Given the description of an element on the screen output the (x, y) to click on. 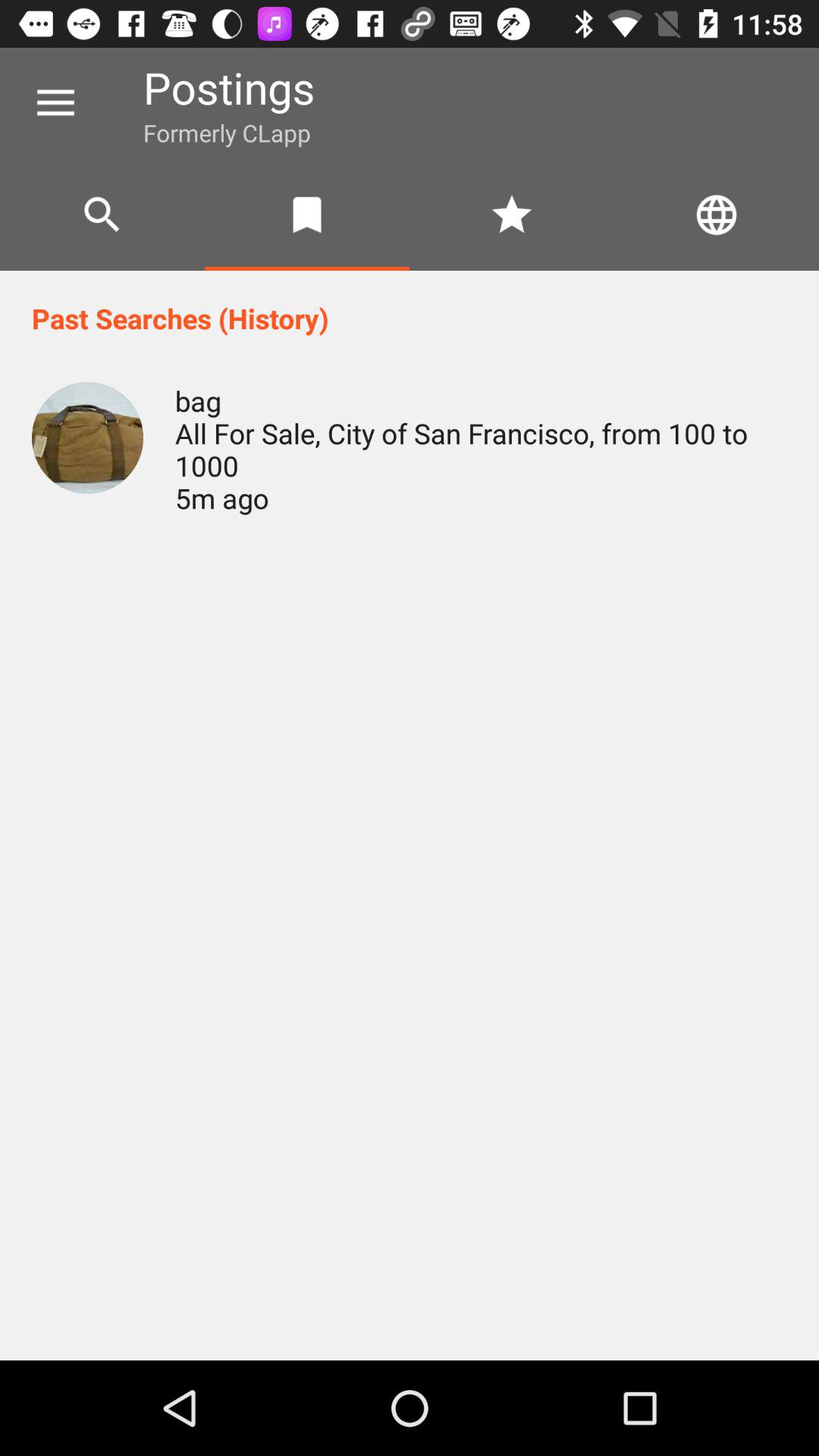
product photo (87, 437)
